Given the description of an element on the screen output the (x, y) to click on. 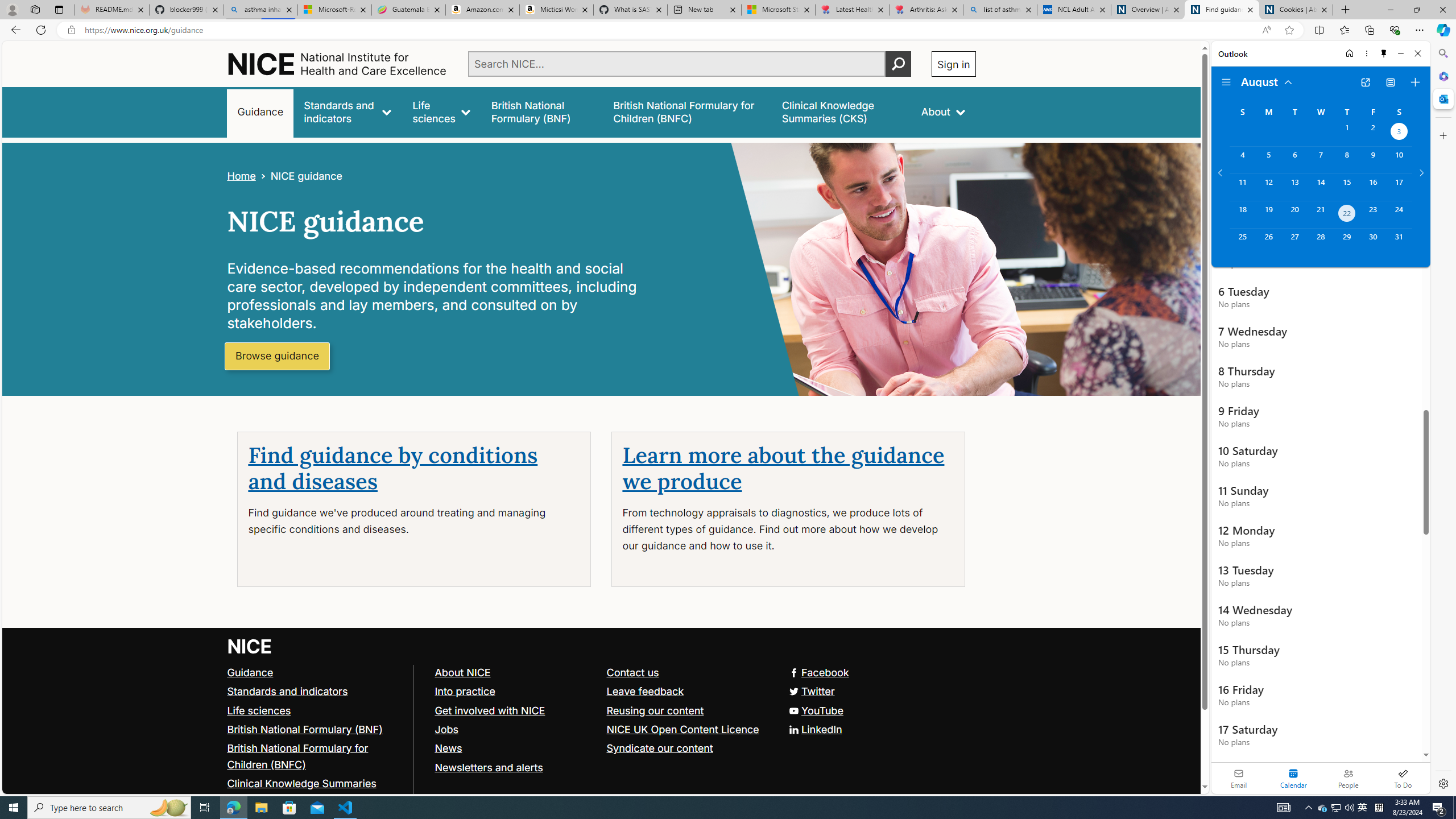
Get involved with NICE (514, 710)
Search (1442, 53)
Sign in (952, 63)
Side bar (1443, 418)
Microsoft 365 (1442, 76)
Open in new tab (1365, 82)
Folder navigation (1225, 82)
>NICE guidance (298, 176)
Friday, August 2, 2024.  (1372, 132)
Go to NICE home page (250, 645)
Find guidance by conditions and diseases (392, 468)
